Given the description of an element on the screen output the (x, y) to click on. 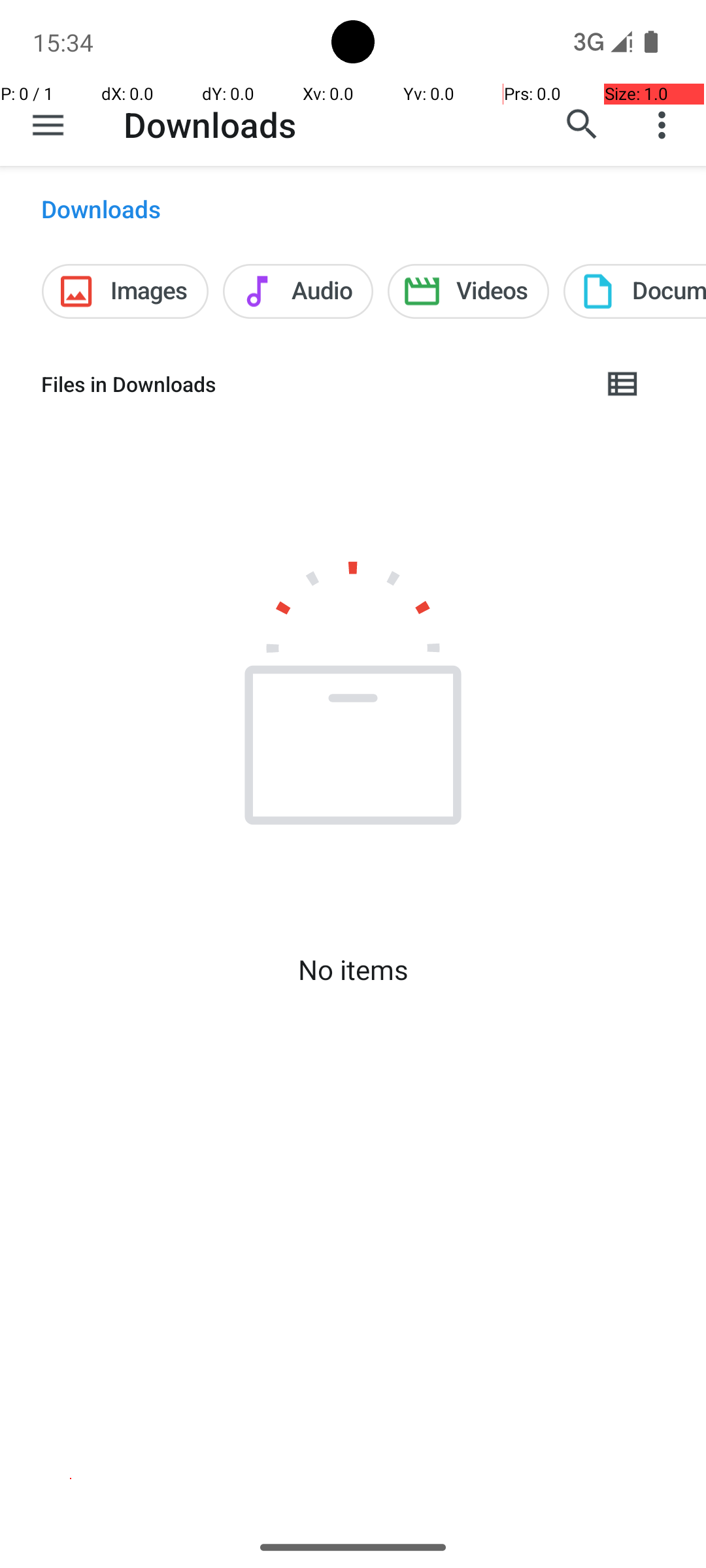
Show roots Element type: android.widget.ImageButton (48, 124)
Downloads Element type: android.widget.TextView (209, 124)
Files in Downloads Element type: android.widget.TextView (311, 383)
List view Element type: android.widget.TextView (622, 384)
Images Element type: android.widget.CompoundButton (124, 291)
Audio Element type: android.widget.CompoundButton (297, 291)
Videos Element type: android.widget.CompoundButton (468, 291)
Documents Element type: android.widget.CompoundButton (634, 291)
No items Element type: android.widget.TextView (352, 968)
